Given the description of an element on the screen output the (x, y) to click on. 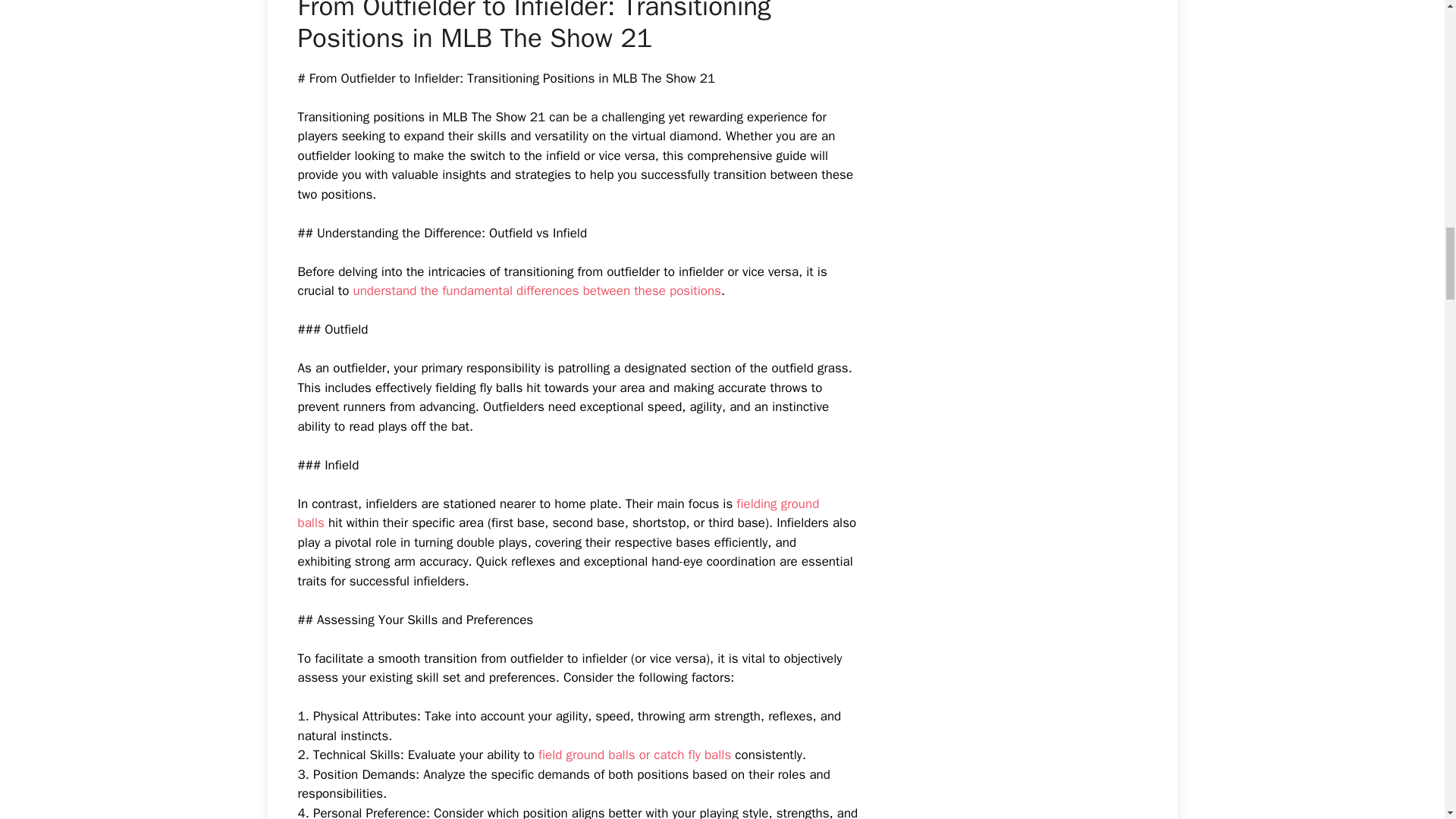
fielding ground balls (557, 513)
field ground balls or catch fly balls (634, 754)
